Given the description of an element on the screen output the (x, y) to click on. 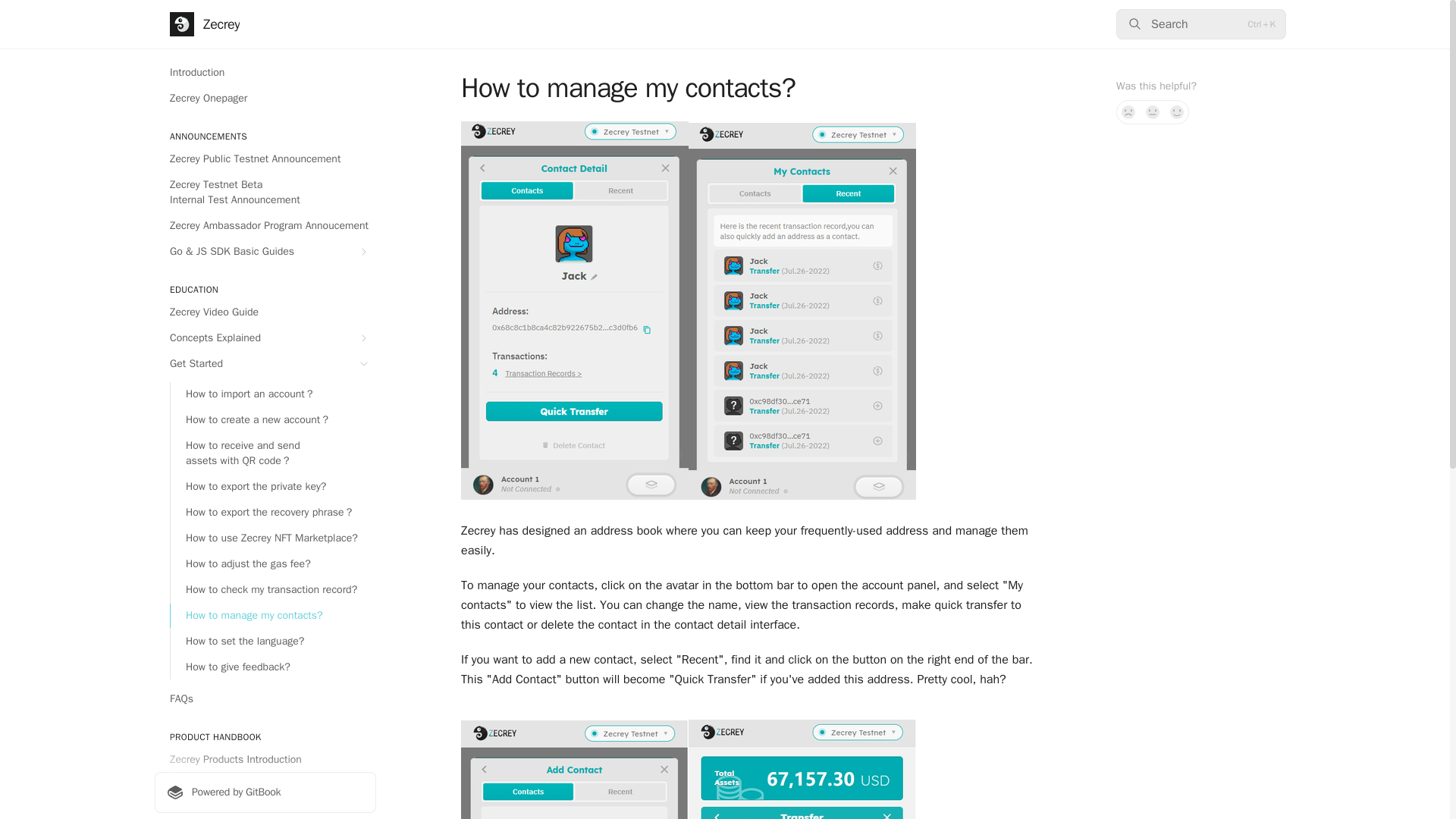
Zecrey Public Testnet Announcement (264, 159)
Introduction (264, 72)
Yes, it was! (1176, 111)
Zecrey Video Guide (264, 312)
Not sure (1152, 111)
Concepts Explained (264, 337)
Zecrey (205, 24)
Zecrey Testnet Beta Internal Test Announcement (264, 192)
No (1128, 111)
Get Started (264, 363)
Zecrey Onepager (264, 98)
Zecrey Ambassador Program Annoucement (264, 225)
